Given the description of an element on the screen output the (x, y) to click on. 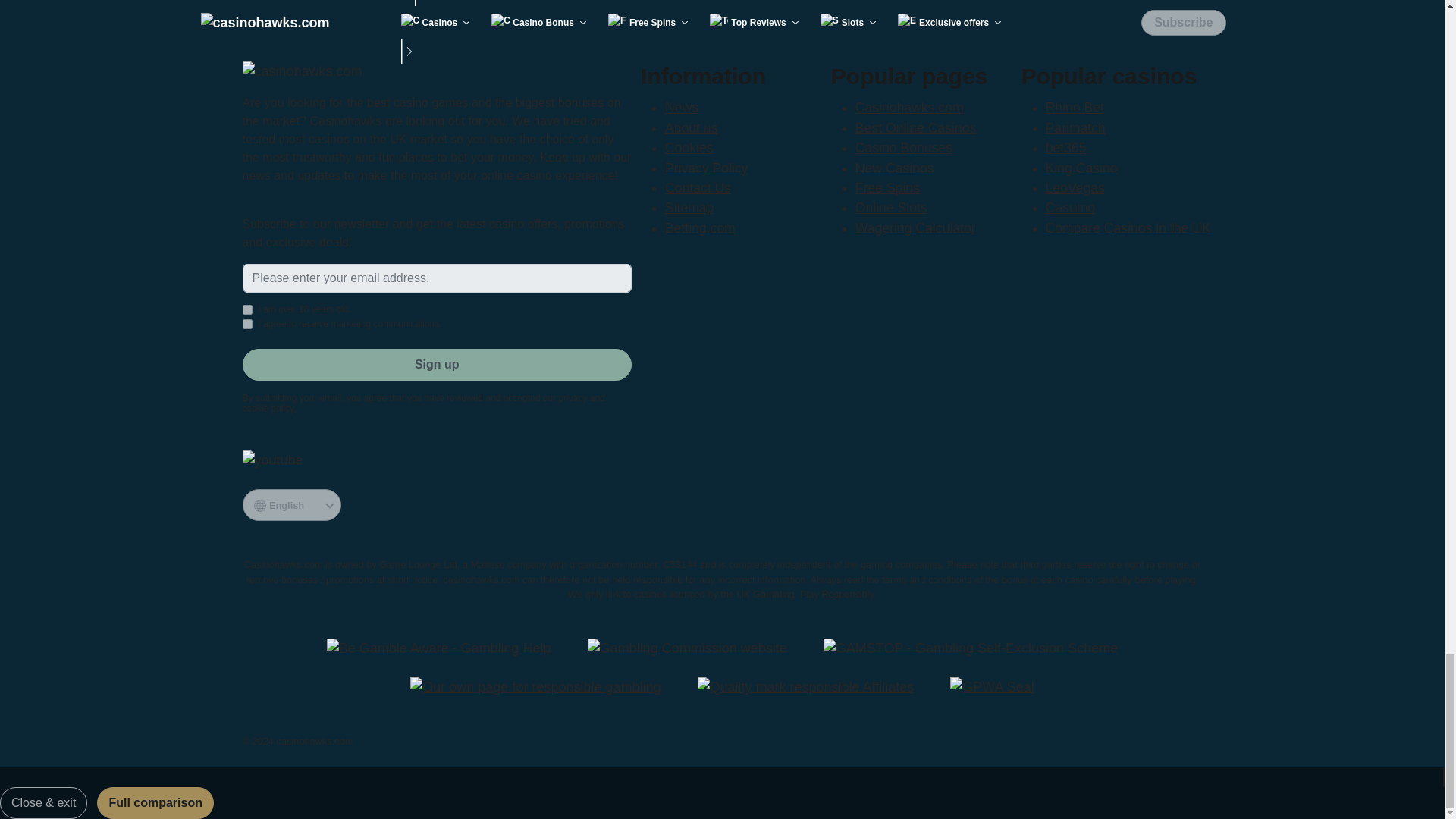
on (247, 324)
on (247, 309)
